Given the description of an element on the screen output the (x, y) to click on. 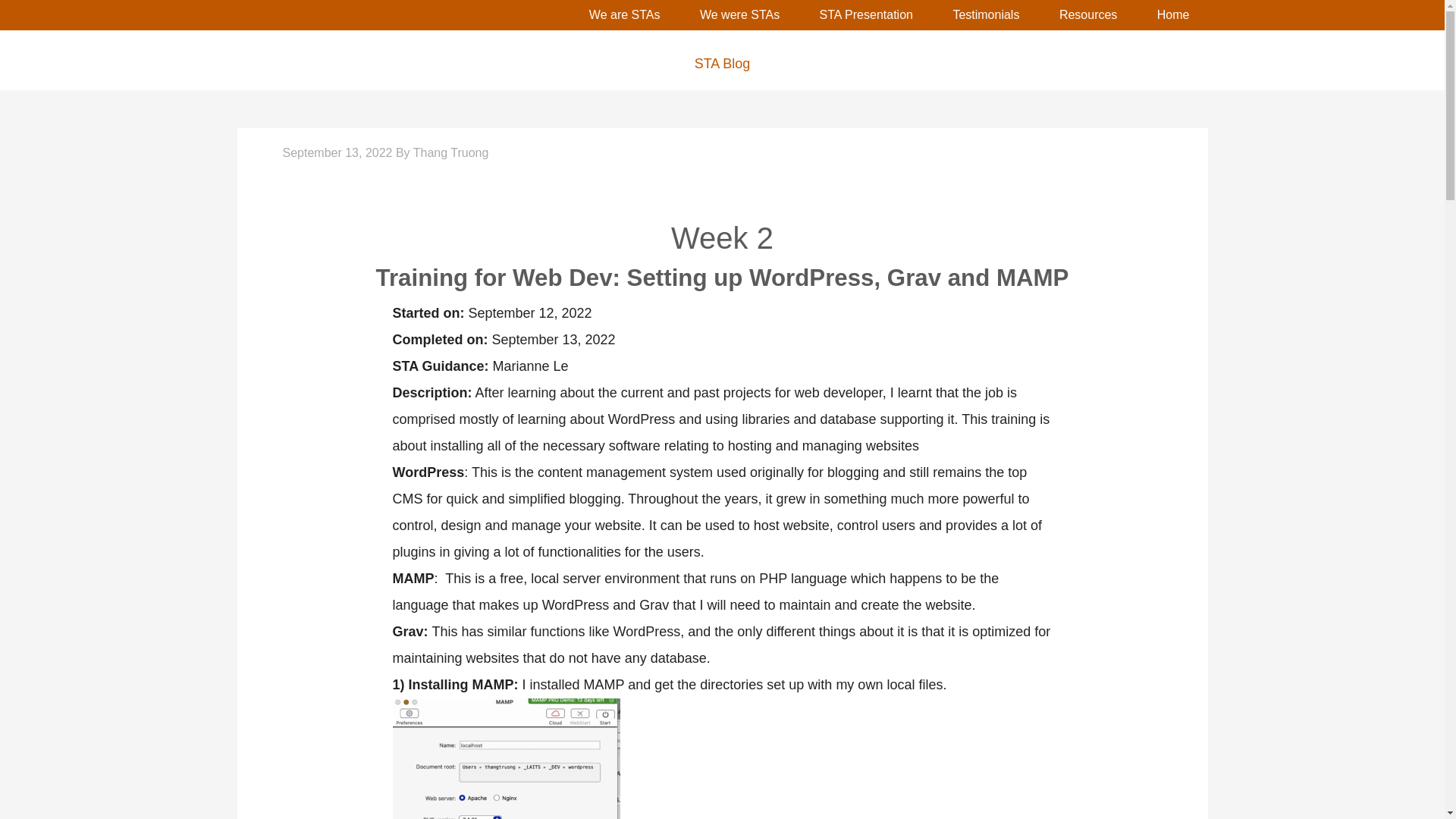
Home (1173, 15)
Resources (1088, 15)
Thang Truong (451, 152)
We are STAs (624, 15)
Testimonials (985, 15)
STA Blog (721, 64)
We were STAs (739, 15)
STA Presentation (866, 15)
